Given the description of an element on the screen output the (x, y) to click on. 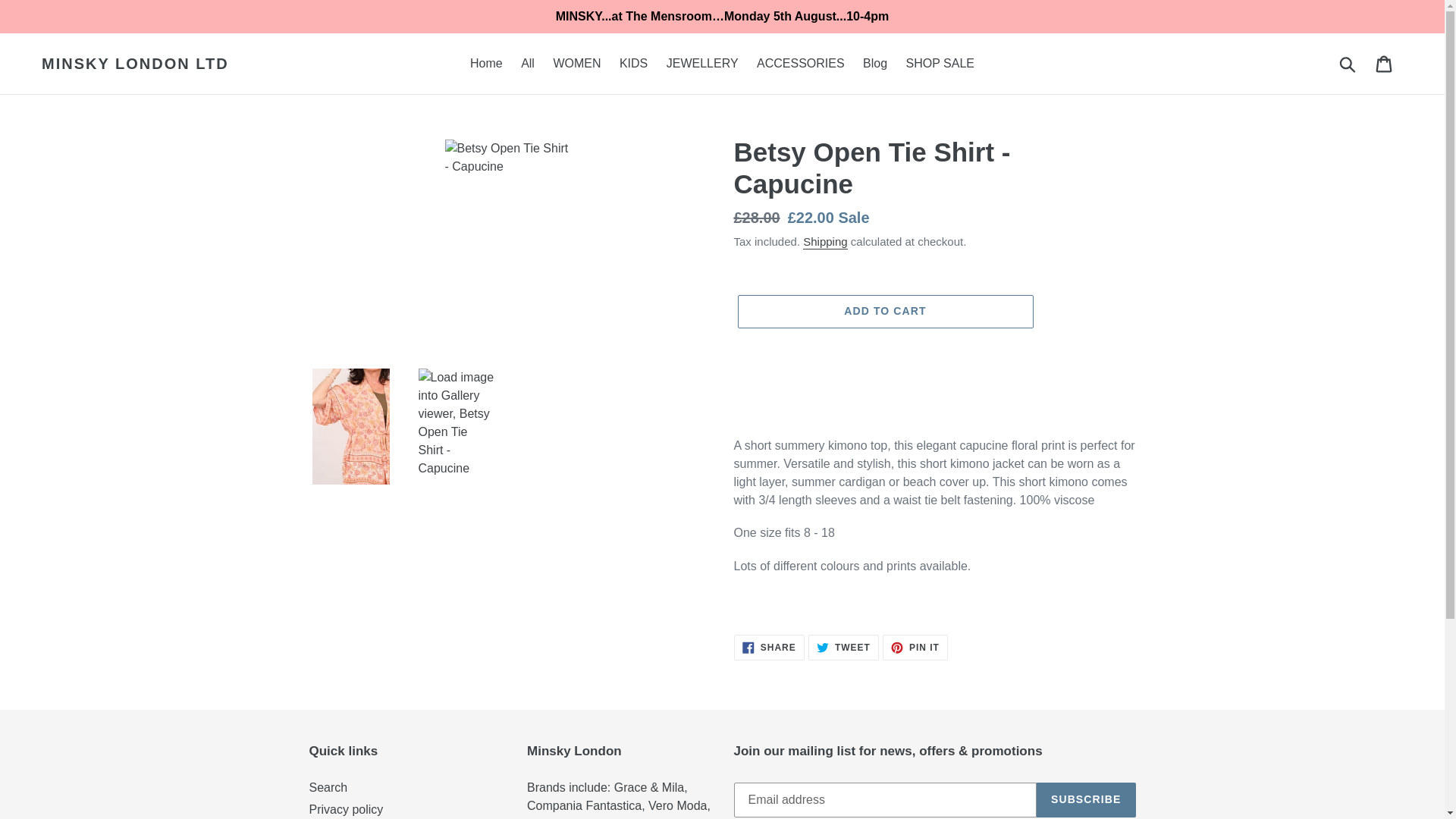
MINSKY LONDON LTD (135, 63)
Home (487, 63)
WOMEN (576, 63)
Search (327, 787)
JEWELLERY (769, 647)
ACCESSORIES (702, 63)
Shipping (800, 63)
Privacy policy (843, 647)
